Given the description of an element on the screen output the (x, y) to click on. 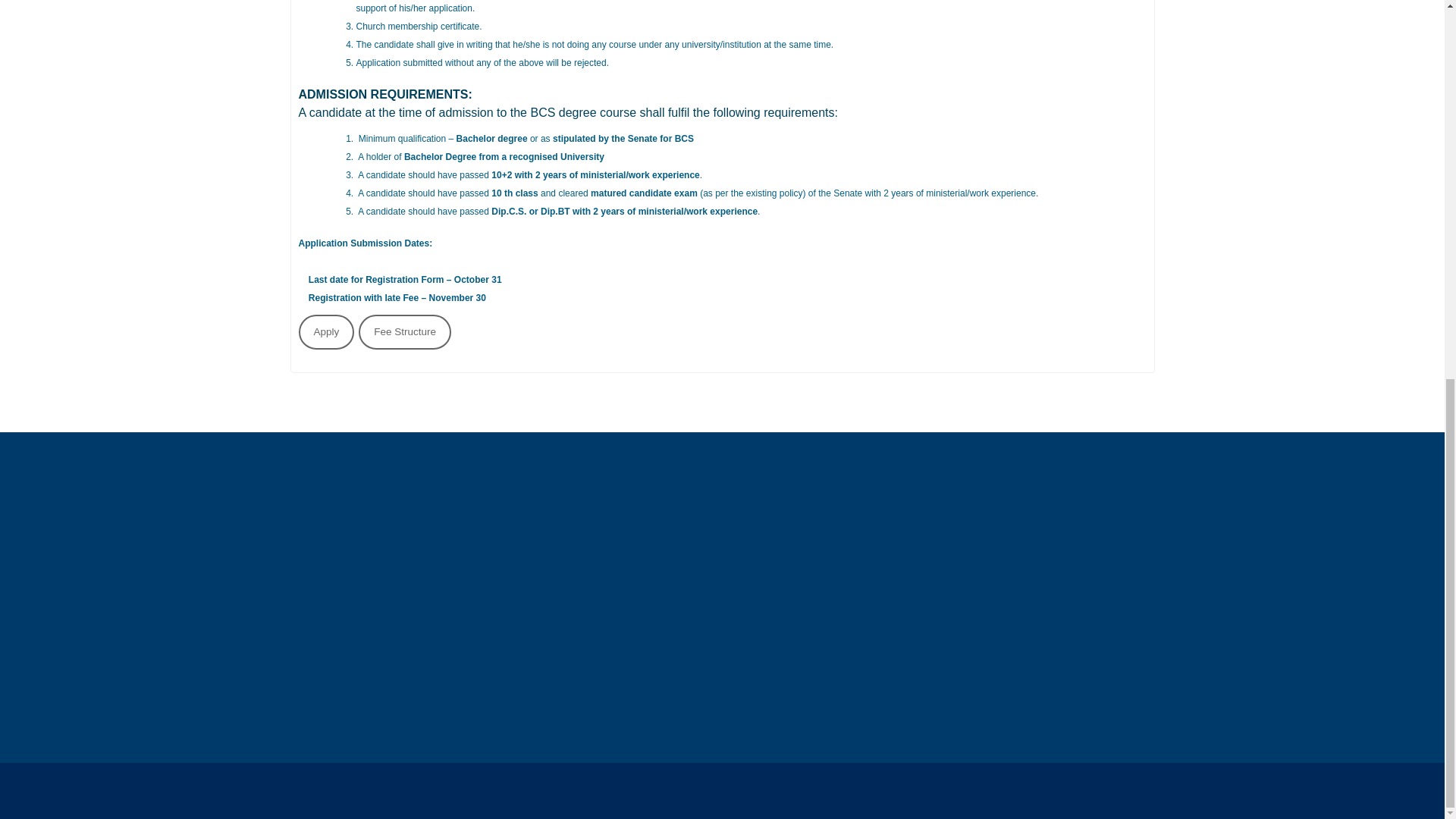
Apply (326, 334)
Fee Structure (404, 333)
Send it! (830, 641)
